Given the description of an element on the screen output the (x, y) to click on. 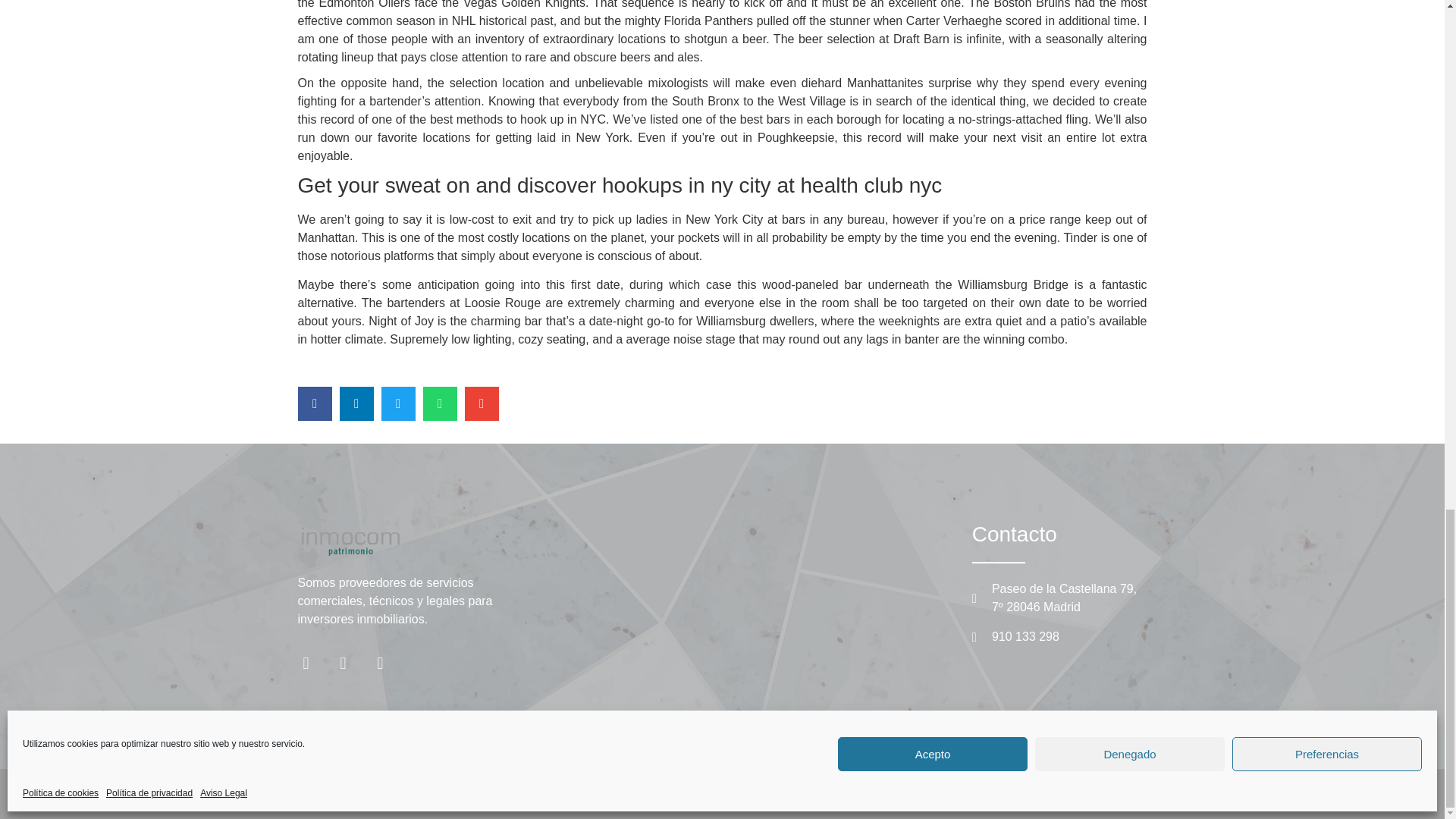
910 133 298 (1056, 637)
Aviso Legal (832, 793)
